Given the description of an element on the screen output the (x, y) to click on. 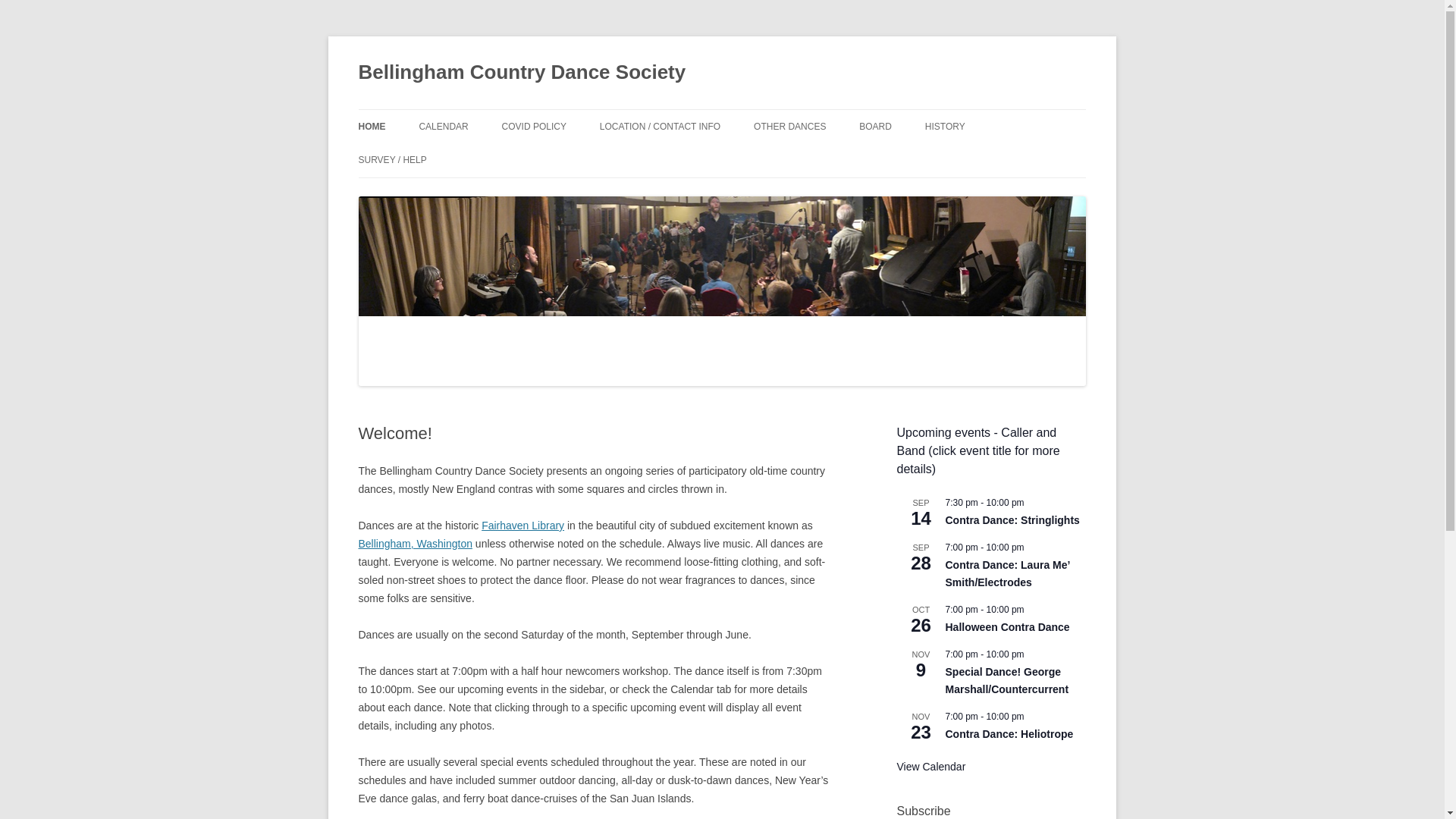
Bellingham Country Dance Society (521, 72)
BOARD (875, 126)
HISTORY (944, 126)
CALENDAR (443, 126)
Fairhaven Library (522, 525)
Contra Dance: Stringlights (1011, 520)
Contra Dance: Heliotrope (1008, 734)
OTHER DANCES (789, 126)
COVID POLICY (534, 126)
Bellingham, Washington (414, 543)
